Given the description of an element on the screen output the (x, y) to click on. 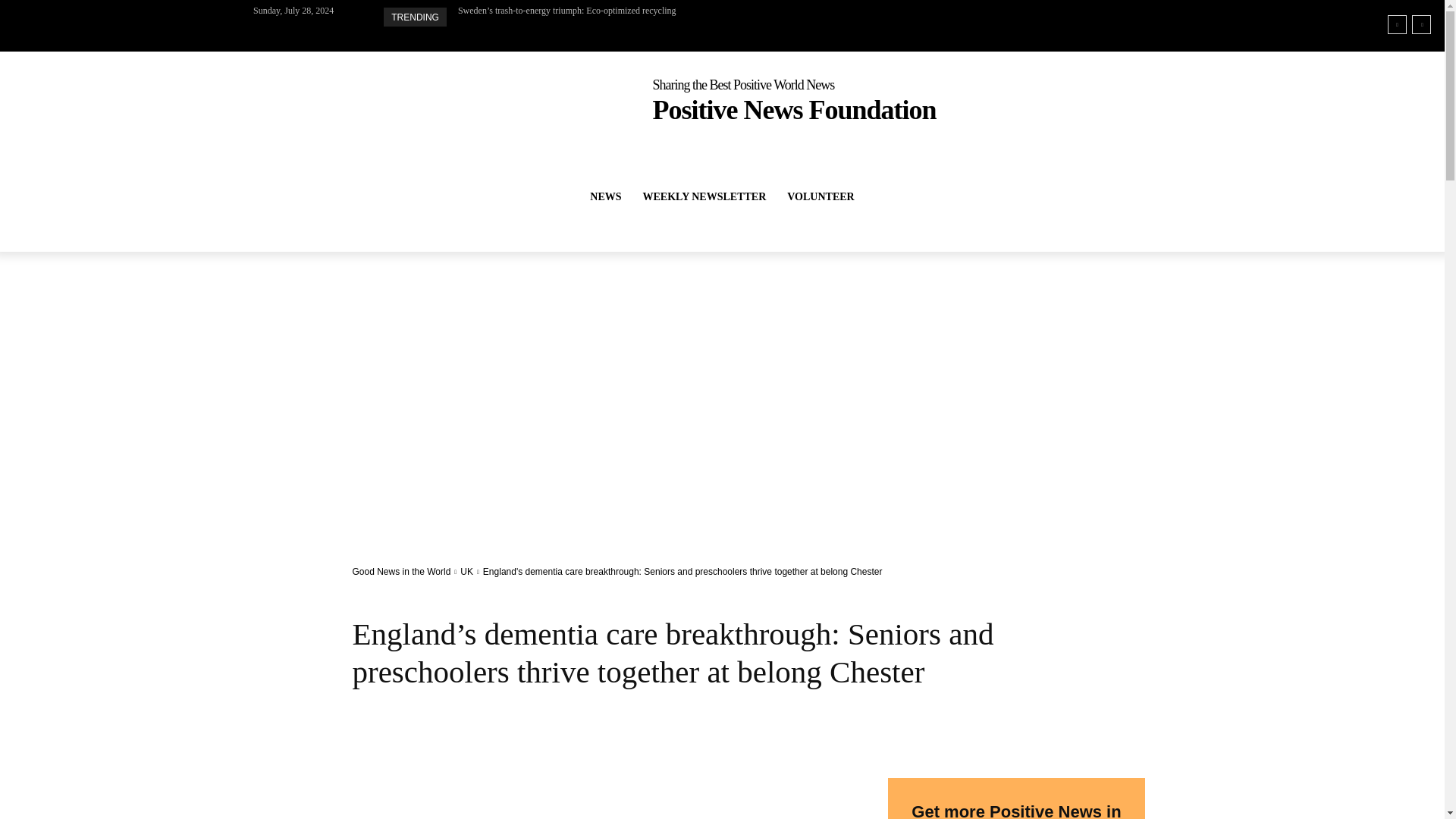
NEWS (605, 197)
WEEKLY NEWSLETTER (704, 197)
UK (466, 571)
Good News in the World (400, 571)
VOLUNTEER (820, 197)
